Given the description of an element on the screen output the (x, y) to click on. 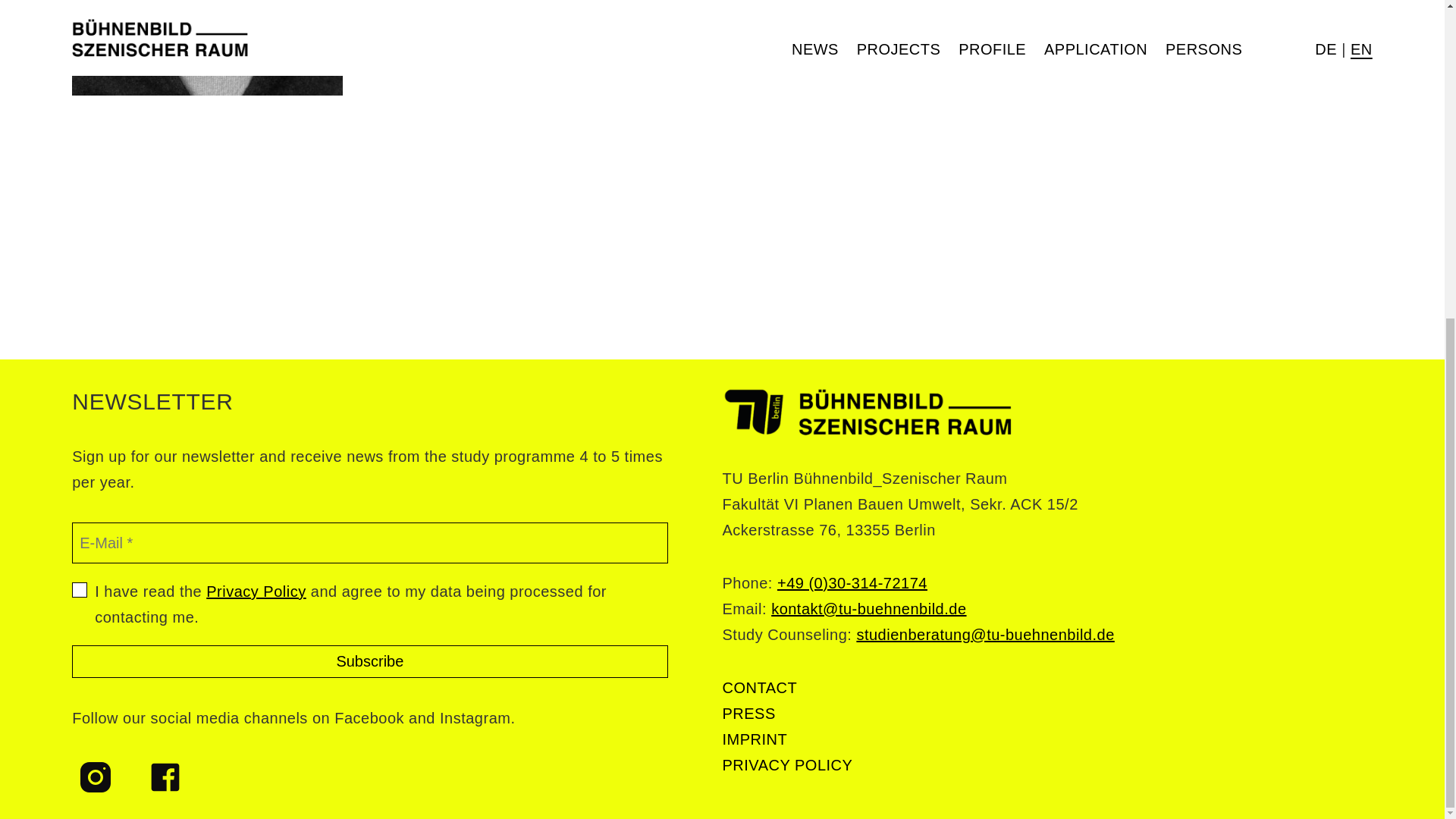
CONTACT (759, 687)
Subscribe (368, 661)
INSTAGRAM (95, 777)
Subscribe (368, 661)
Privacy Policy (255, 591)
IMPRINT (754, 739)
FACEBOOK (165, 777)
PRESS (748, 713)
